Given the description of an element on the screen output the (x, y) to click on. 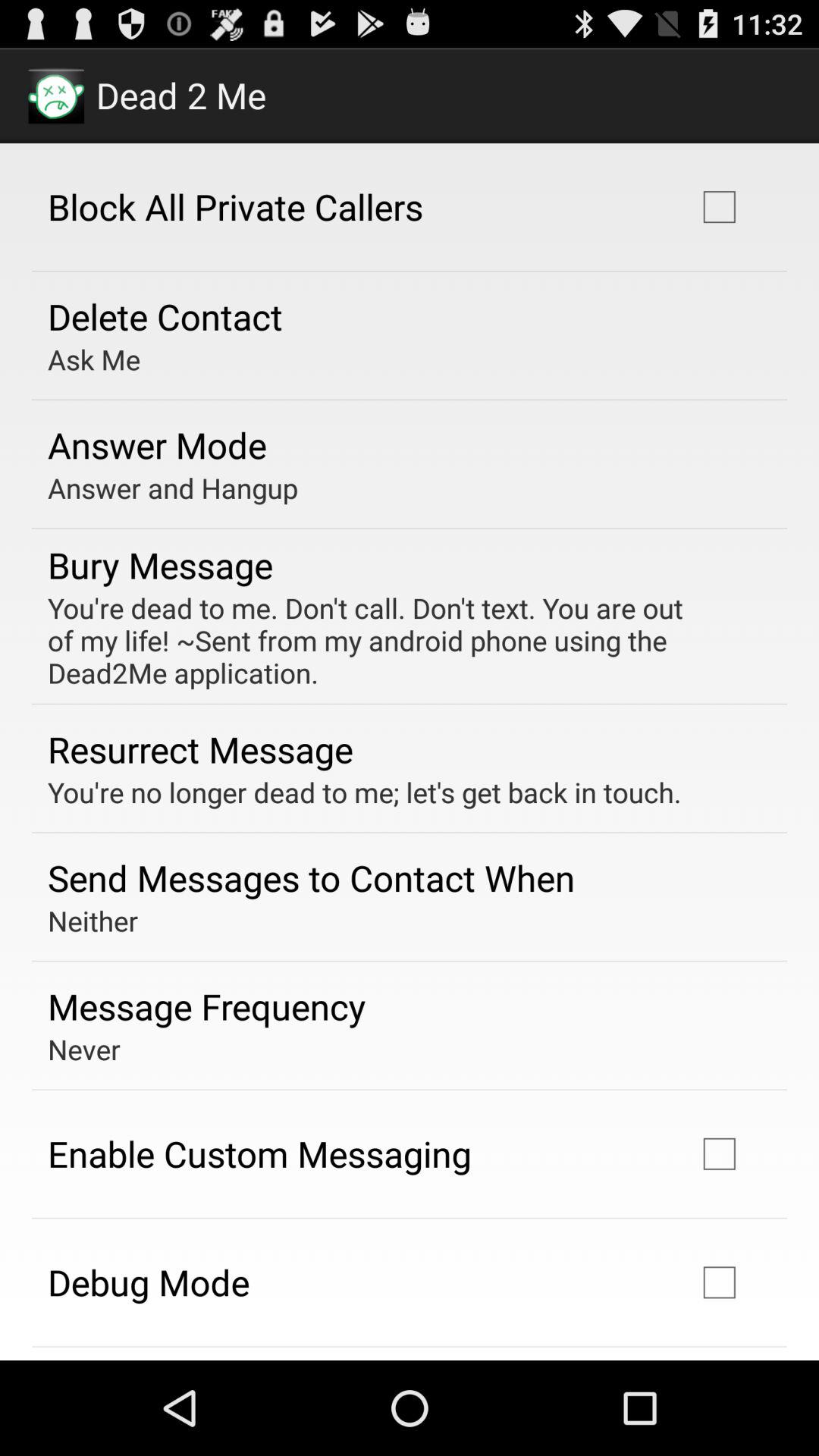
tap the icon below neither item (206, 1006)
